Given the description of an element on the screen output the (x, y) to click on. 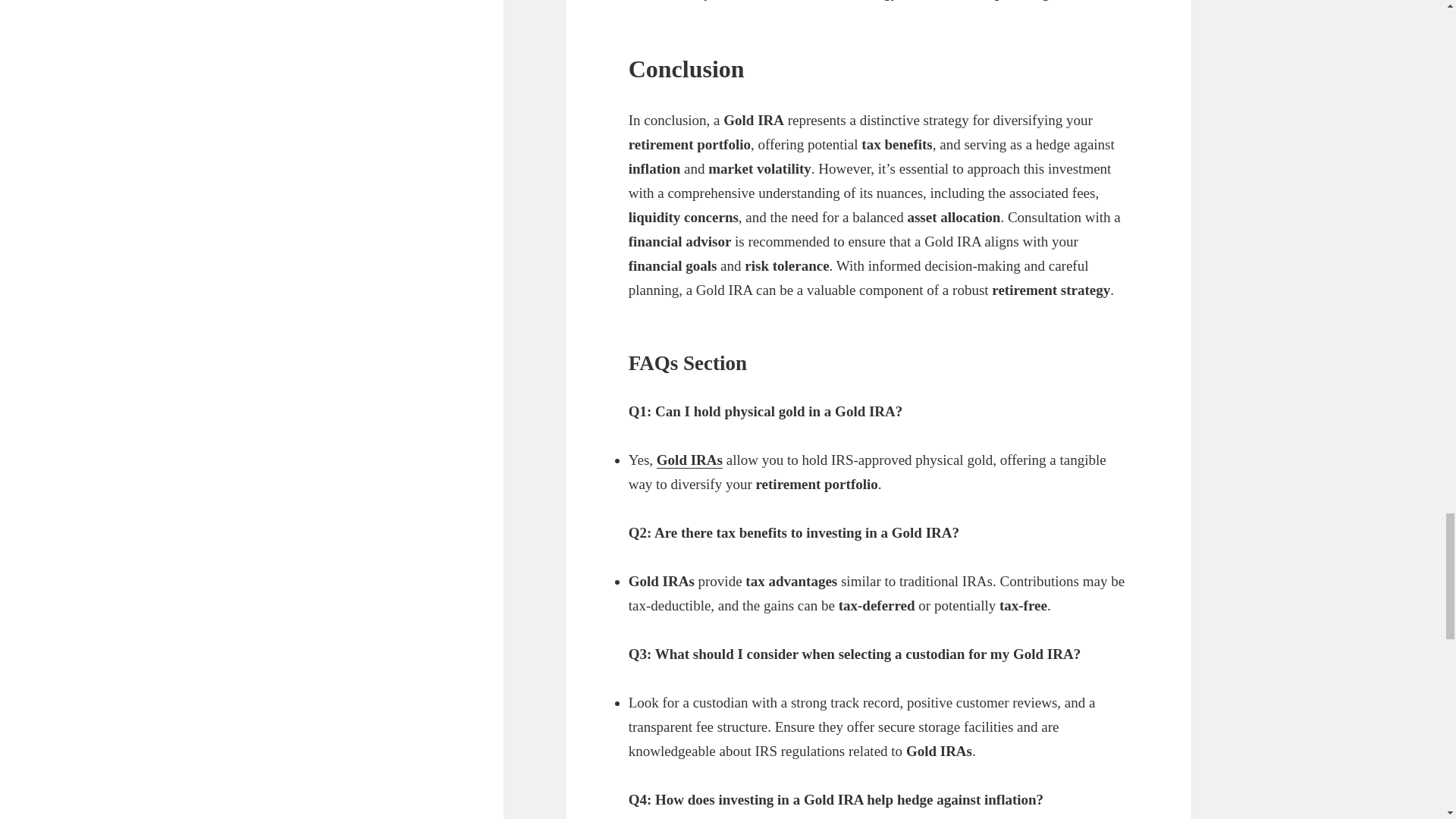
Gold IRAs (689, 460)
